Given the description of an element on the screen output the (x, y) to click on. 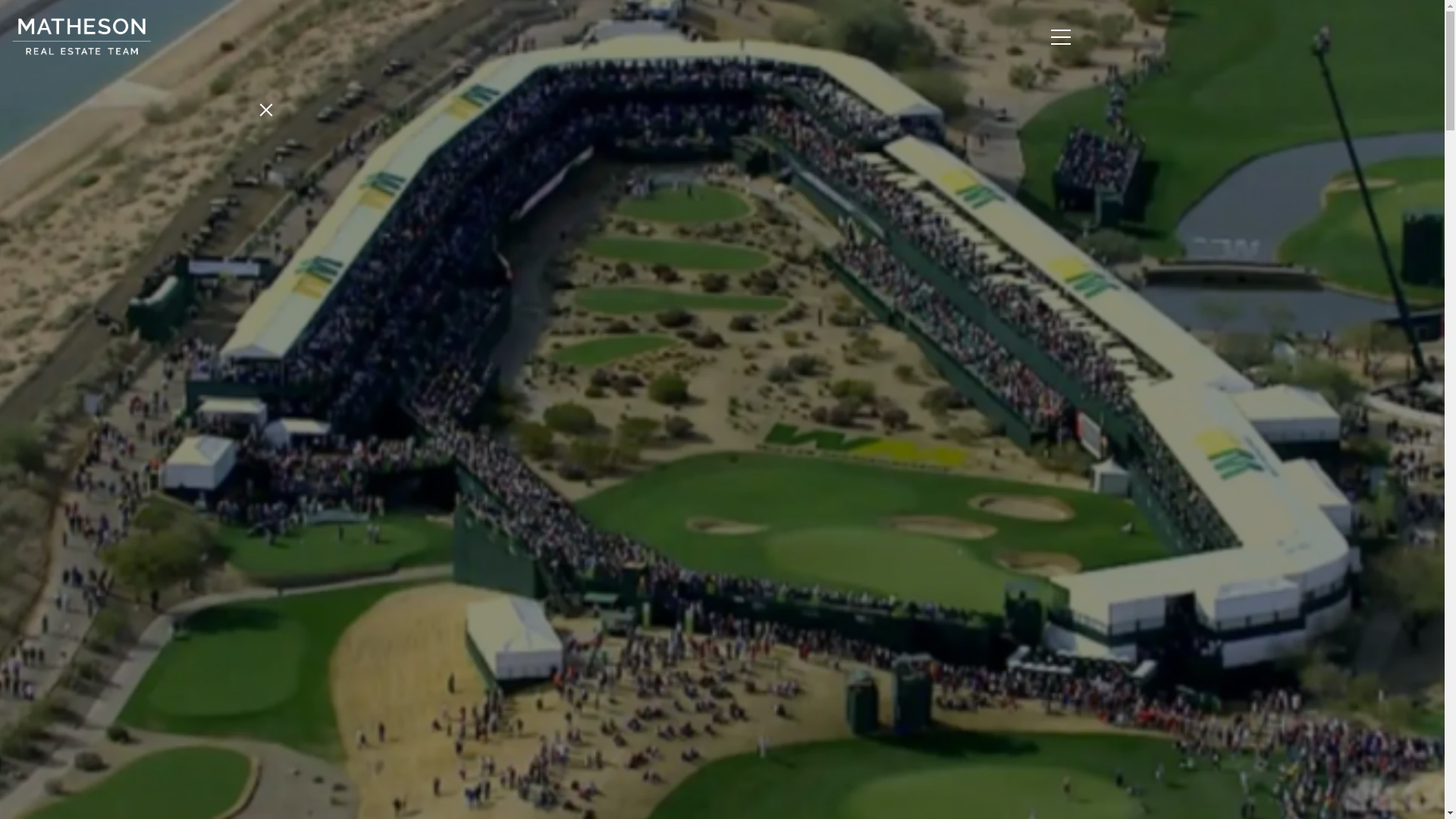
HOME VALUATION (782, 42)
NEIGHBORHOODS (655, 42)
HOME VALUATION (152, 432)
SCOTTSDALE NEIGHBORHOODS (151, 485)
MY SEARCH PORTAL (150, 679)
HOME (151, 238)
TESTIMONIALS (152, 603)
PROPERTIES (343, 42)
ABOUT (151, 280)
CONTACT (882, 42)
CONTACT (151, 641)
PROPERTIES (150, 324)
SEARCH SCOTTSDALE HOMES (491, 42)
SEARCH SCOTTSDALE HOMES (151, 378)
SCOTTSDALE LIVING BLOG (151, 549)
